Given the description of an element on the screen output the (x, y) to click on. 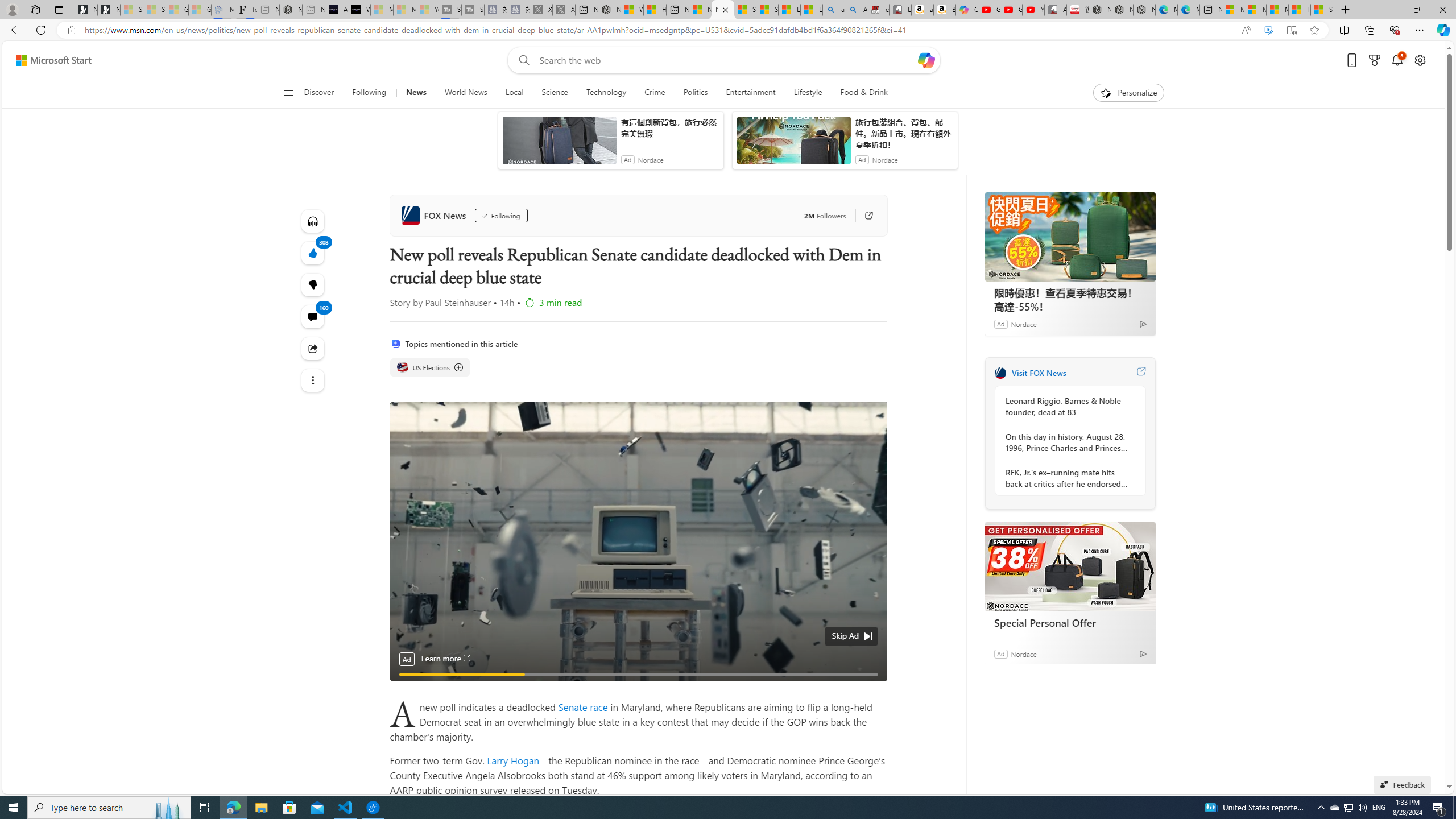
World News (465, 92)
View comments 160 Comment (312, 316)
Share this story (312, 348)
US Elections (430, 367)
Learn more (446, 658)
Newsletter Sign Up (109, 9)
Technology (605, 92)
Politics (695, 92)
Technology (606, 92)
